Given the description of an element on the screen output the (x, y) to click on. 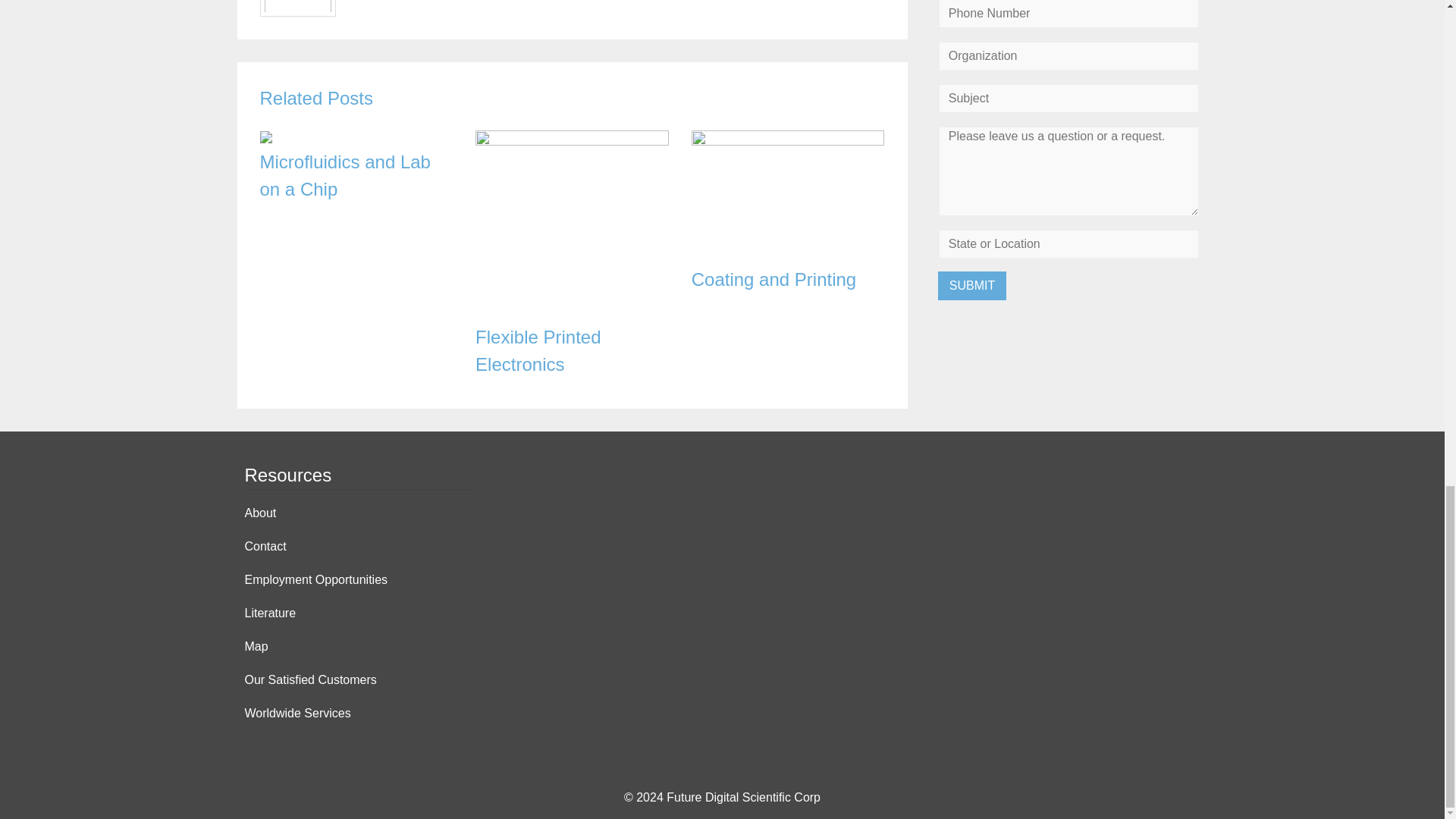
Coating and Printing (773, 279)
Coating and Printing (788, 141)
SUBMIT (971, 285)
Flexible Printed Electronics (537, 350)
Microfluidics and Lab on a Chip (344, 175)
Microfluidics and Lab on a Chip (264, 138)
Flexible Printed Electronics (572, 141)
